Given the description of an element on the screen output the (x, y) to click on. 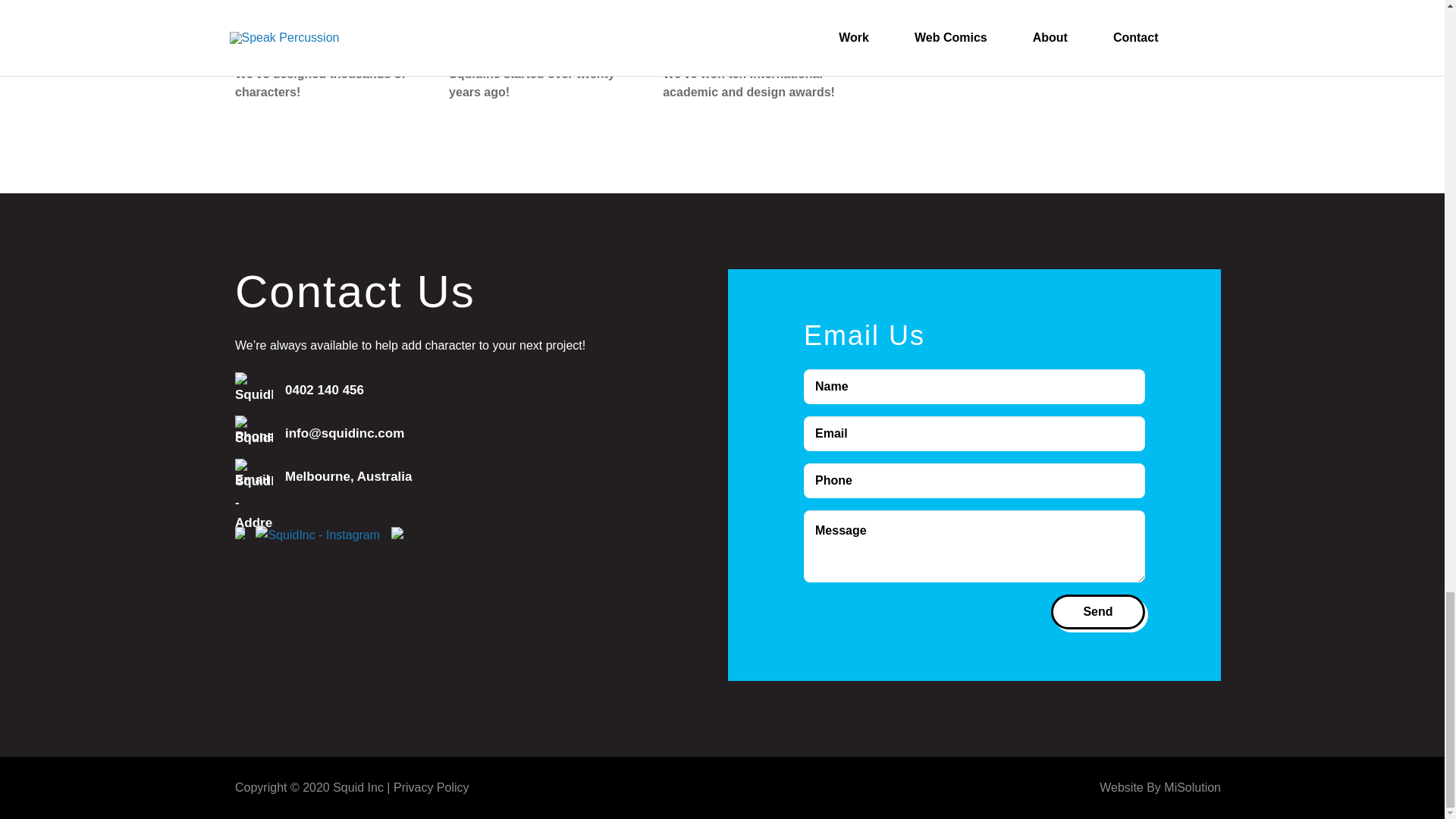
MiSolution (1192, 787)
0402 140 456 (461, 389)
Privacy Policy (430, 787)
Send (1097, 611)
Send (1097, 611)
